Given the description of an element on the screen output the (x, y) to click on. 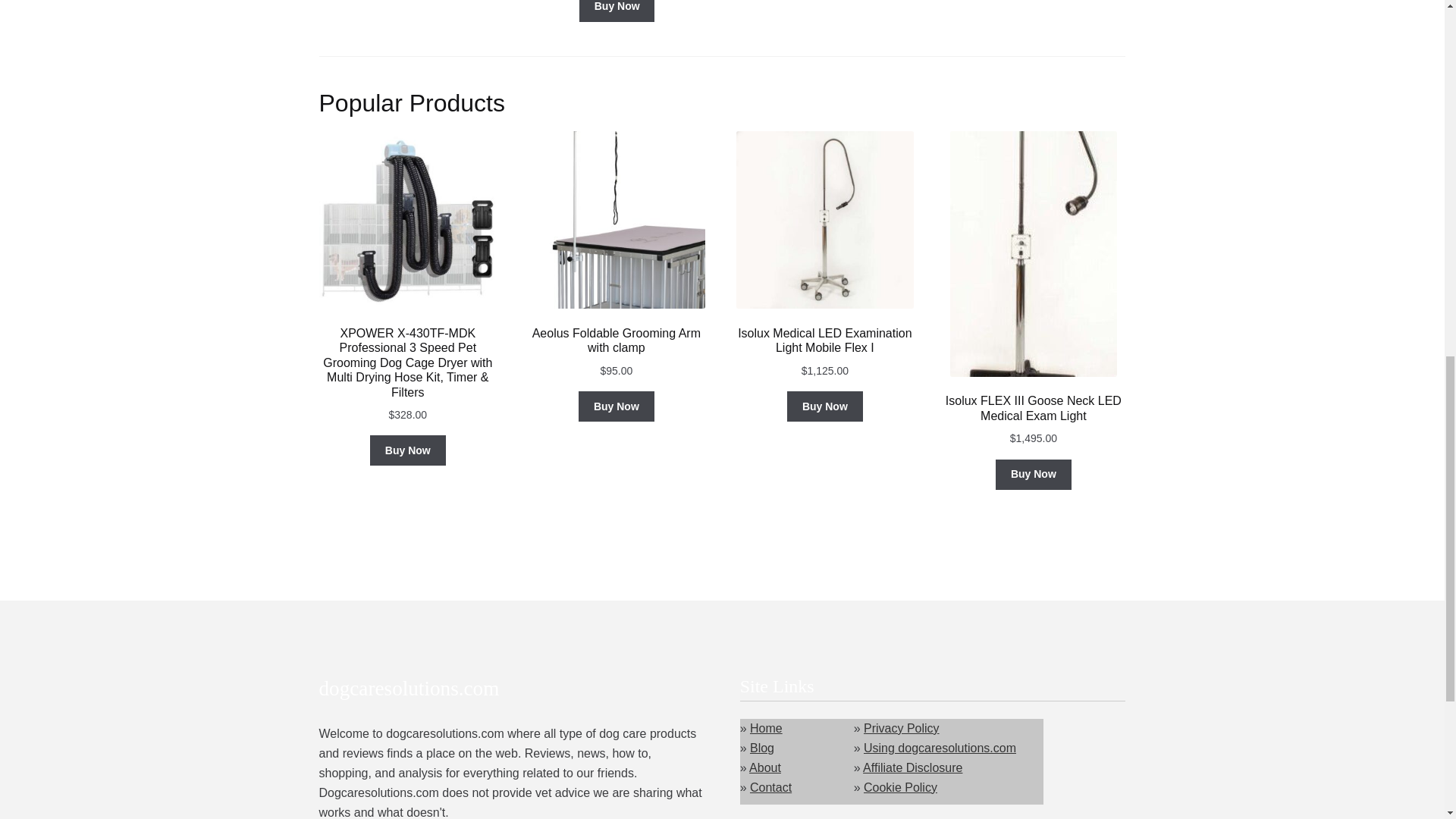
Buy Now (407, 450)
Buy Now (617, 11)
